Given the description of an element on the screen output the (x, y) to click on. 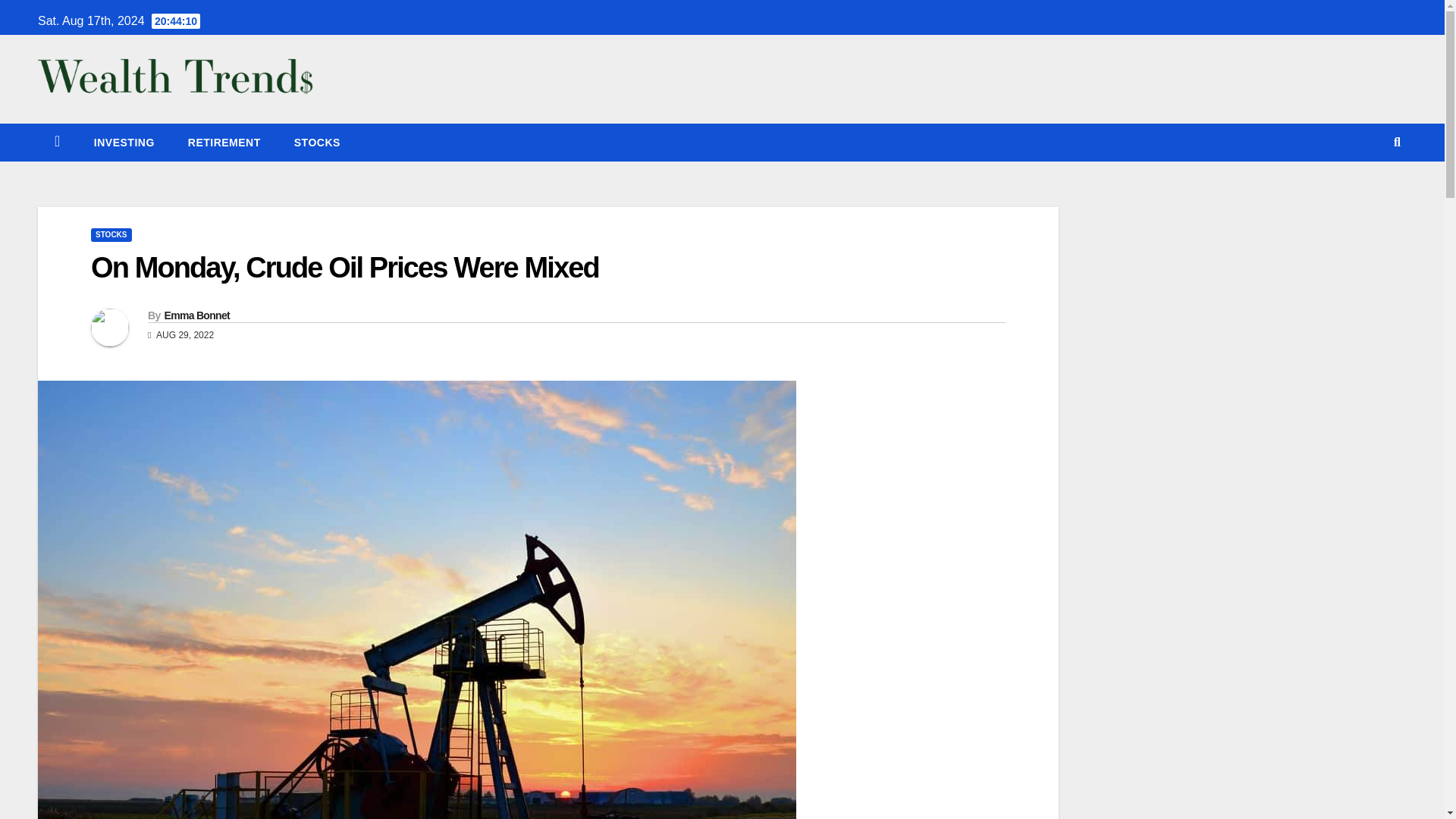
RETIREMENT (224, 142)
Investing (124, 142)
On Monday, Crude Oil Prices Were Mixed (344, 267)
Emma Bonnet (195, 315)
STOCKS (111, 234)
STOCKS (317, 142)
INVESTING (124, 142)
Retirement (224, 142)
Permalink to: On Monday, Crude Oil Prices Were Mixed (344, 267)
Stocks (317, 142)
